Given the description of an element on the screen output the (x, y) to click on. 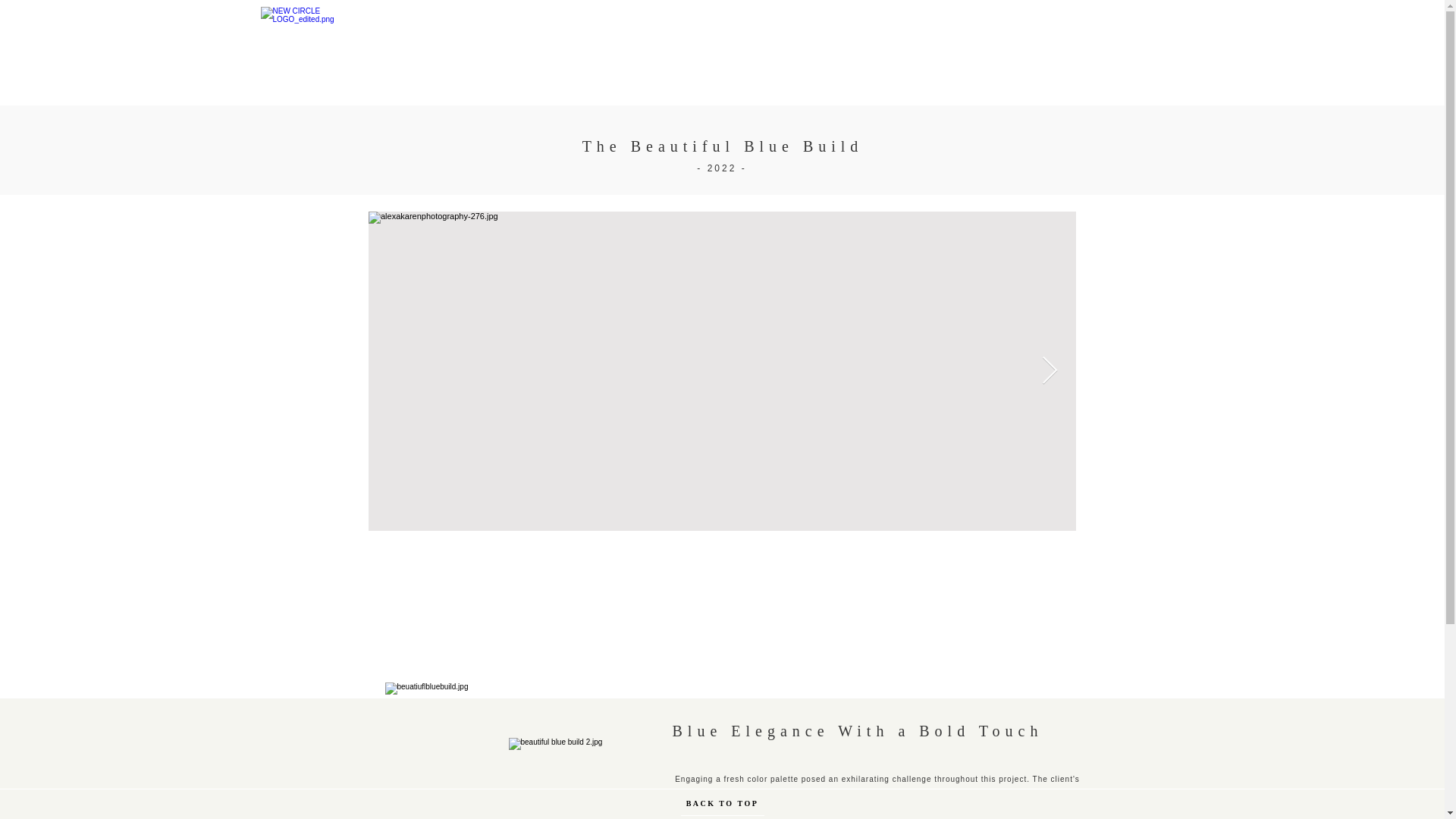
BACK TO TOP (722, 804)
